Given the description of an element on the screen output the (x, y) to click on. 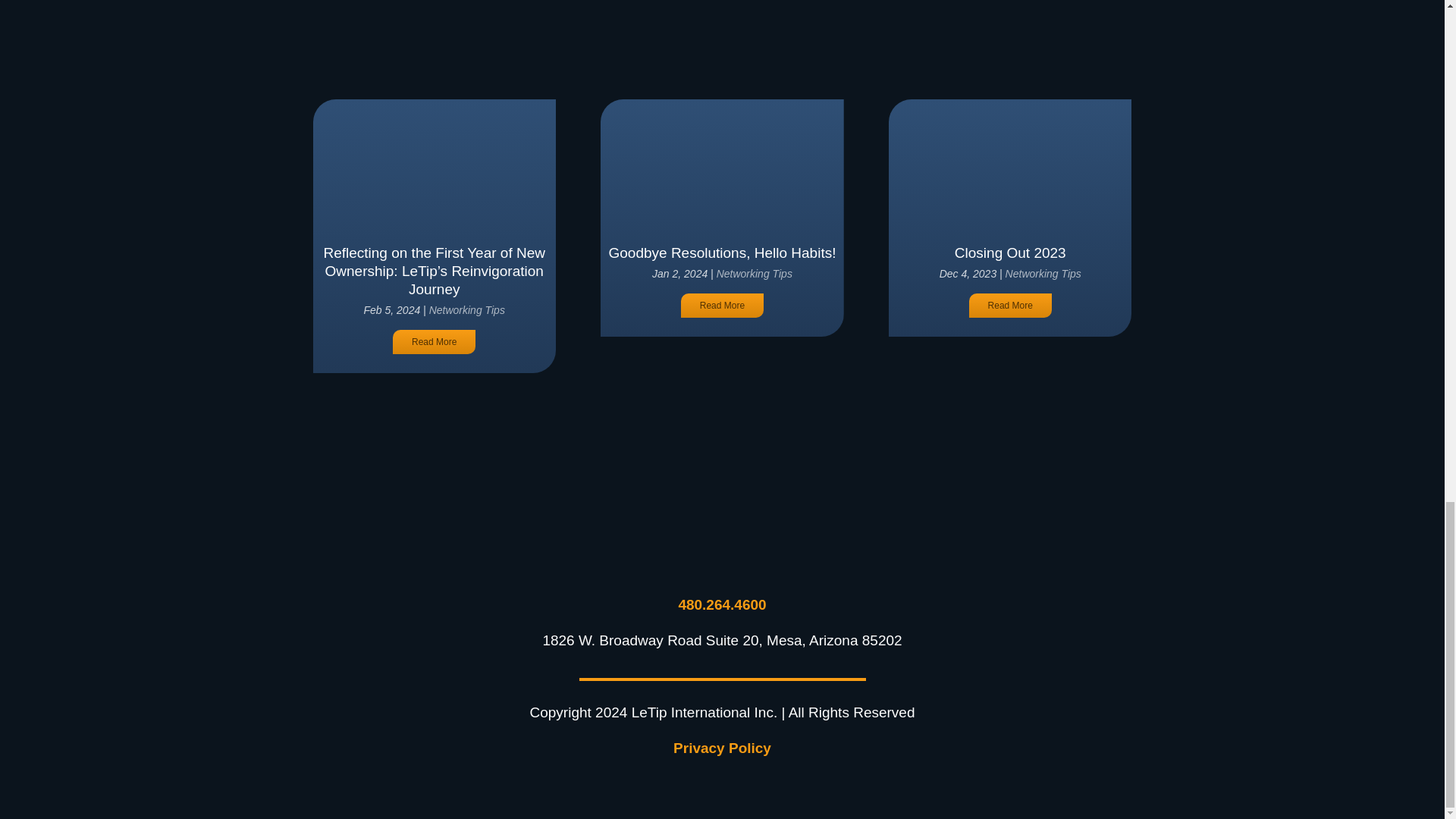
letip-logo-white (721, 542)
